Given the description of an element on the screen output the (x, y) to click on. 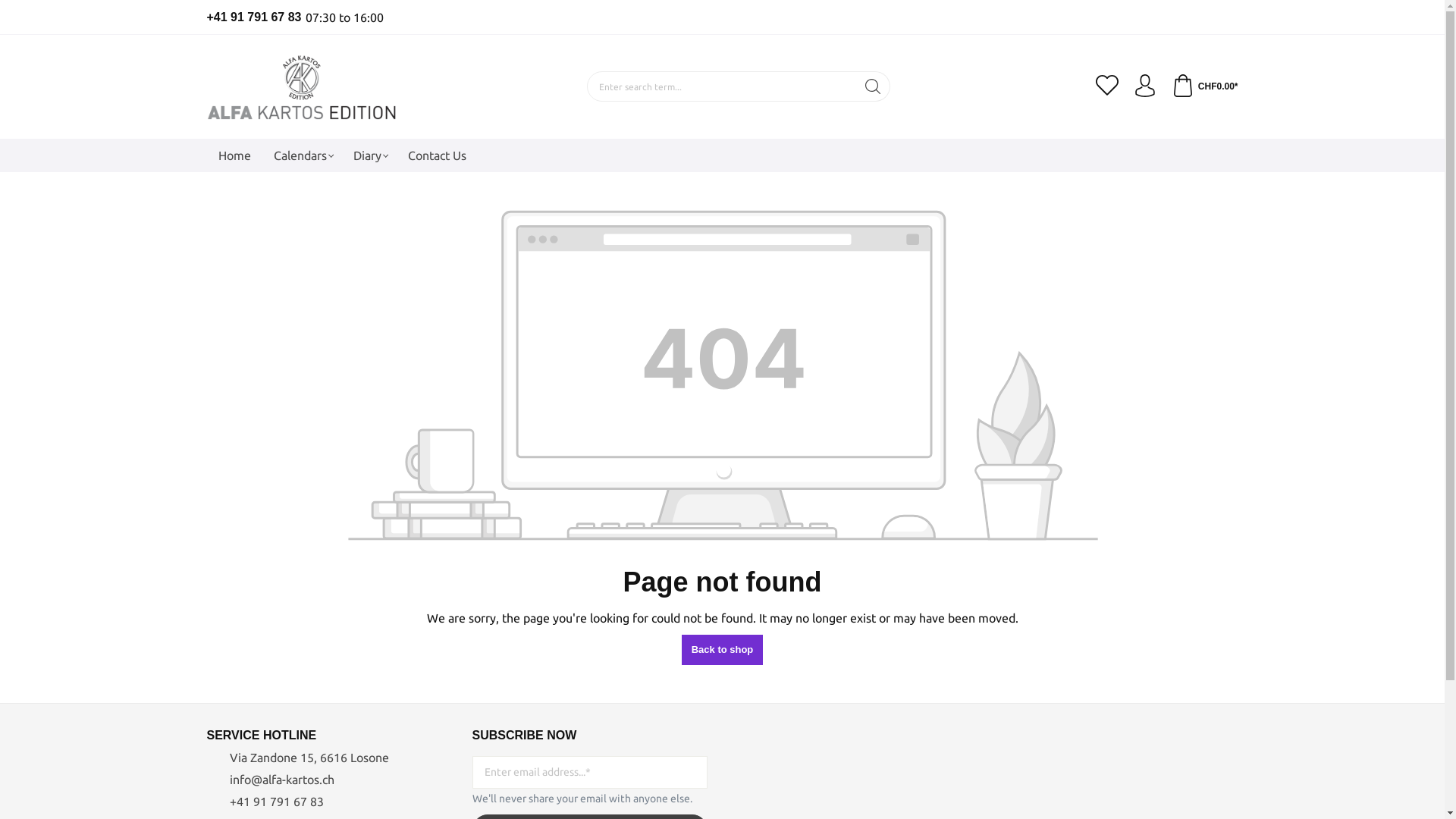
Your account Element type: hover (1144, 86)
Diary Element type: text (368, 154)
Back to shop Element type: text (722, 649)
CHF0.00* Element type: text (1204, 86)
Calendars Element type: text (302, 154)
Contact Us Element type: text (435, 154)
Go to homepage Element type: hover (300, 86)
Home Element type: text (233, 154)
Wishlist Element type: hover (1106, 86)
